Given the description of an element on the screen output the (x, y) to click on. 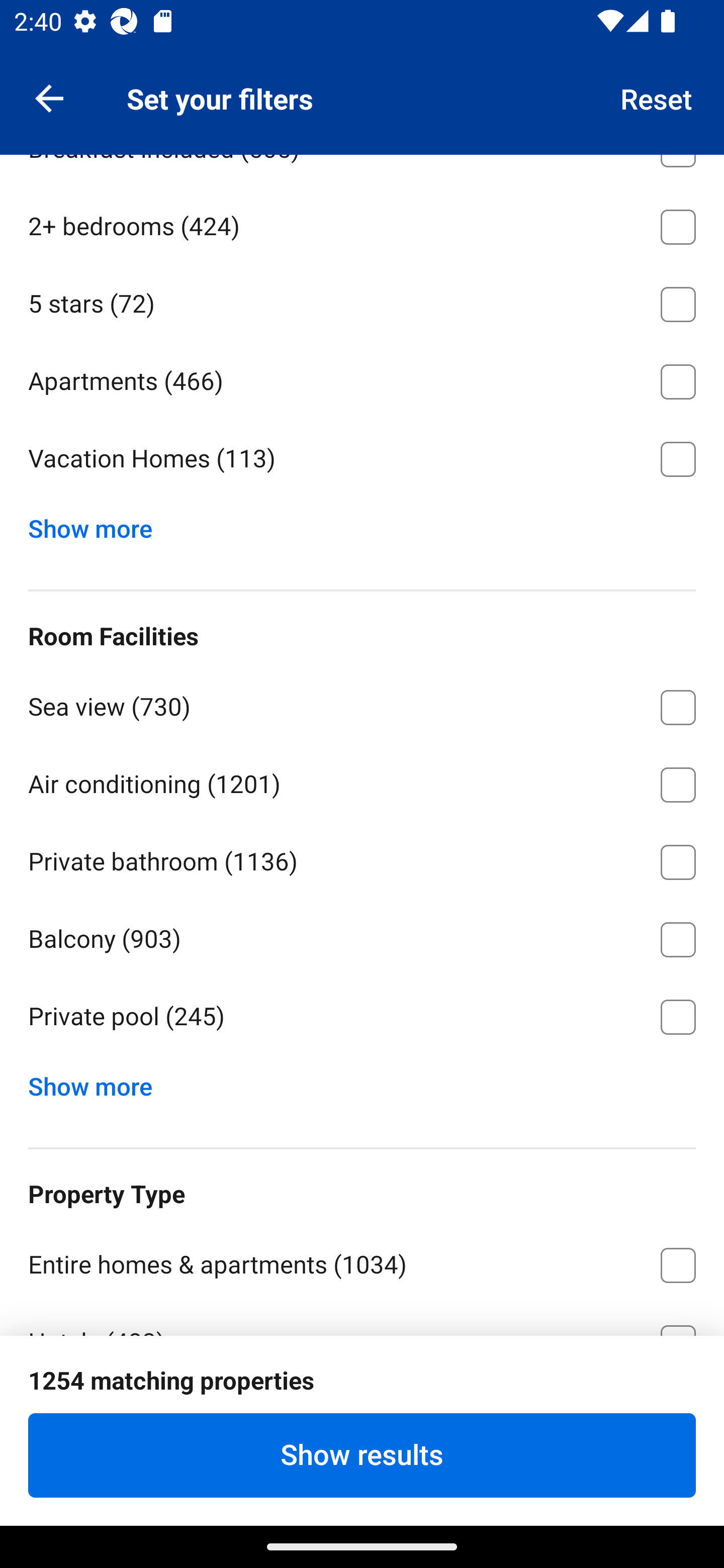
Navigate up (49, 97)
Reset (656, 97)
2+ bedrooms ⁦(424) (361, 223)
5 stars ⁦(72) (361, 300)
Apartments ⁦(466) (361, 378)
Vacation Homes ⁦(113) (361, 459)
Show more (97, 524)
Sea view ⁦(730) (361, 703)
Air conditioning ⁦(1201) (361, 781)
Private bathroom ⁦(1136) (361, 858)
Balcony ⁦(903) (361, 935)
Private pool ⁦(245) (361, 1017)
Show more (97, 1082)
Entire homes & apartments ⁦(1034) (361, 1261)
Show results (361, 1454)
